Given the description of an element on the screen output the (x, y) to click on. 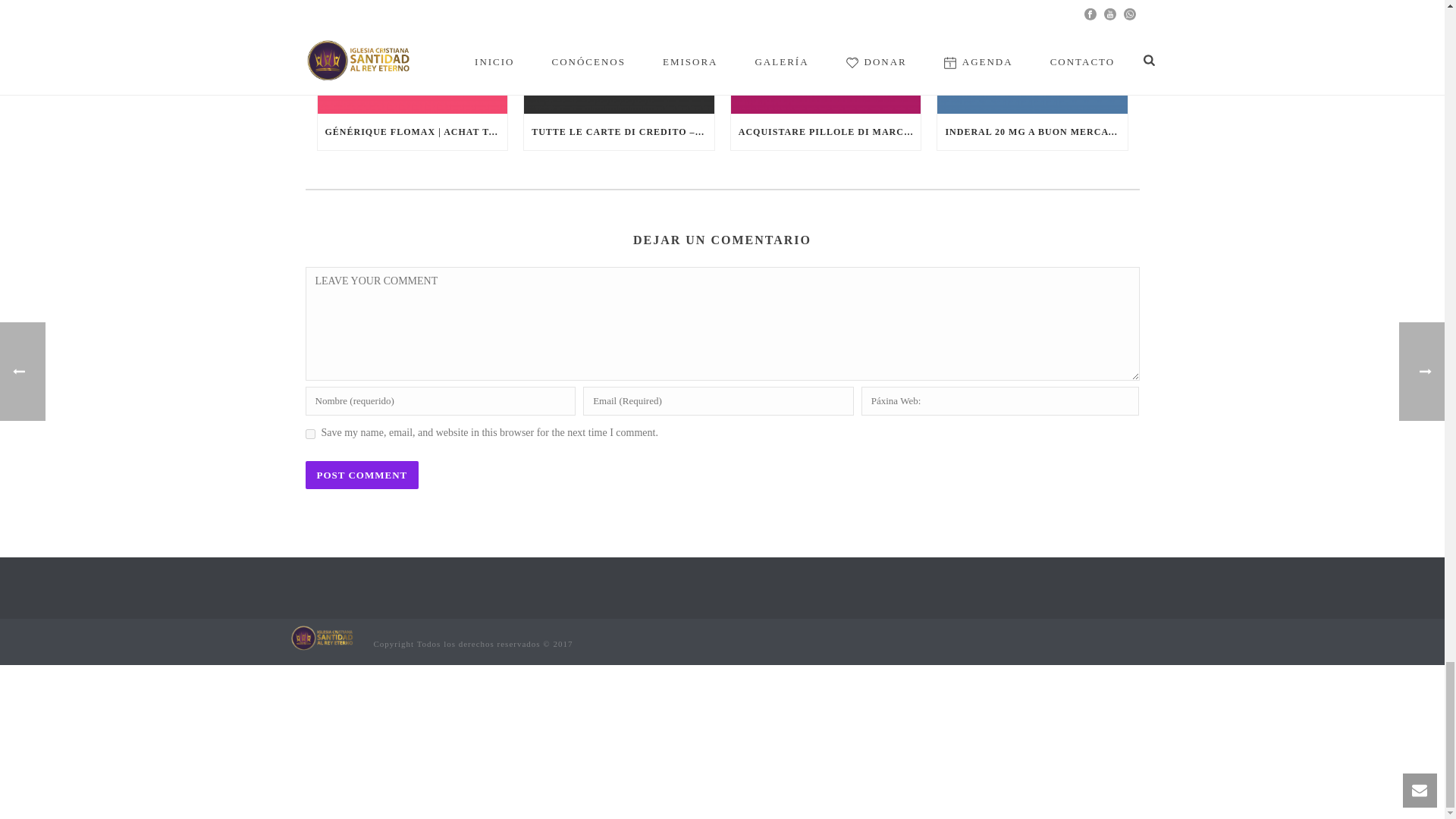
Acquistare Pillole Di Marca Kamagra (825, 56)
Inderal 20 mg A Buon Mercato In Piemonte (1031, 56)
yes (309, 433)
POST COMMENT (361, 474)
Santidad al Rey Eterno (323, 636)
